Given the description of an element on the screen output the (x, y) to click on. 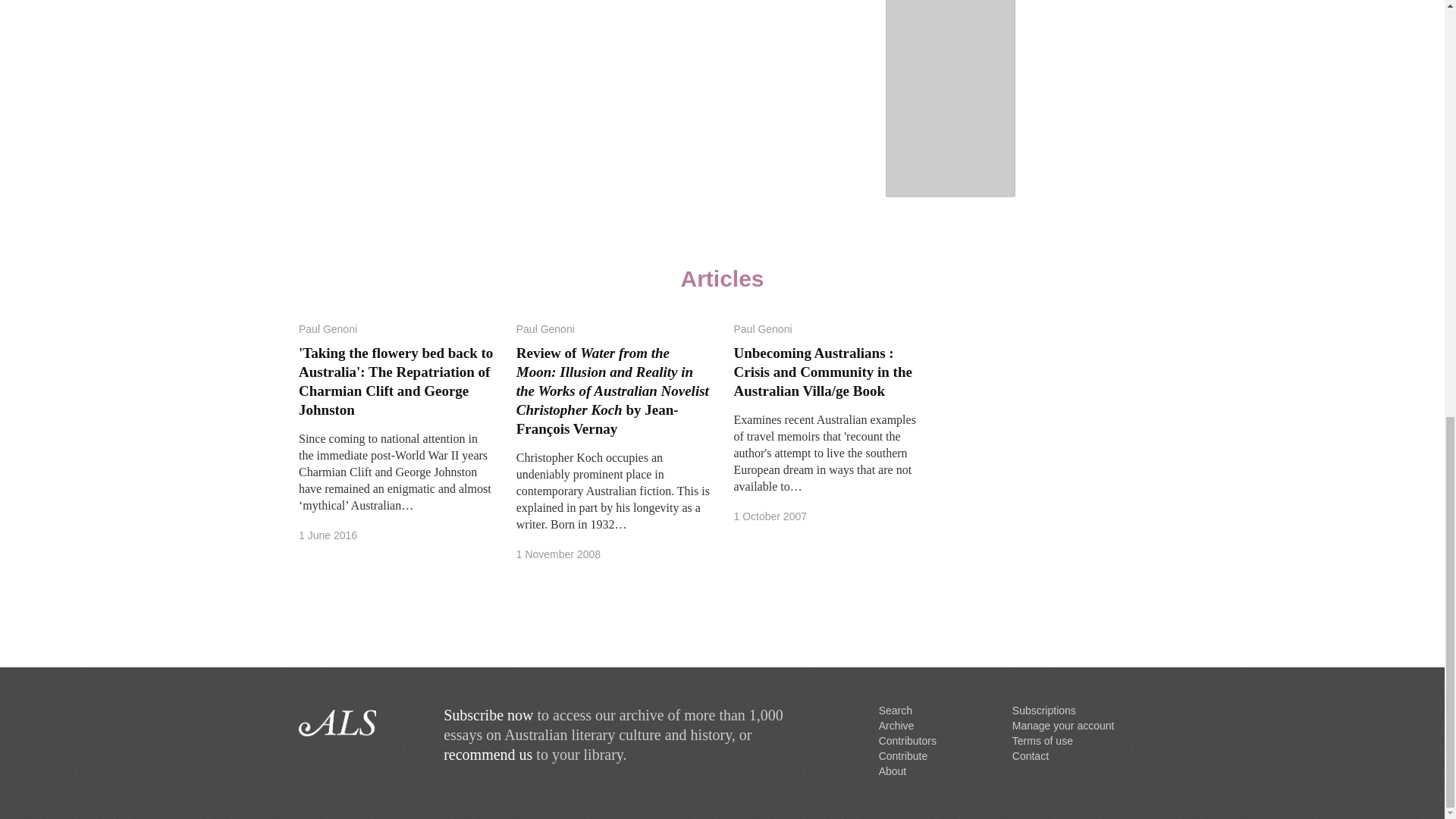
Subscriptions (1043, 710)
Contributors (907, 740)
Contribute (903, 756)
About (893, 770)
ALS logo (359, 723)
recommend us (488, 754)
Contact (1029, 756)
Subscribe now (488, 714)
Archive (896, 725)
Terms of use (1042, 740)
